Given the description of an element on the screen output the (x, y) to click on. 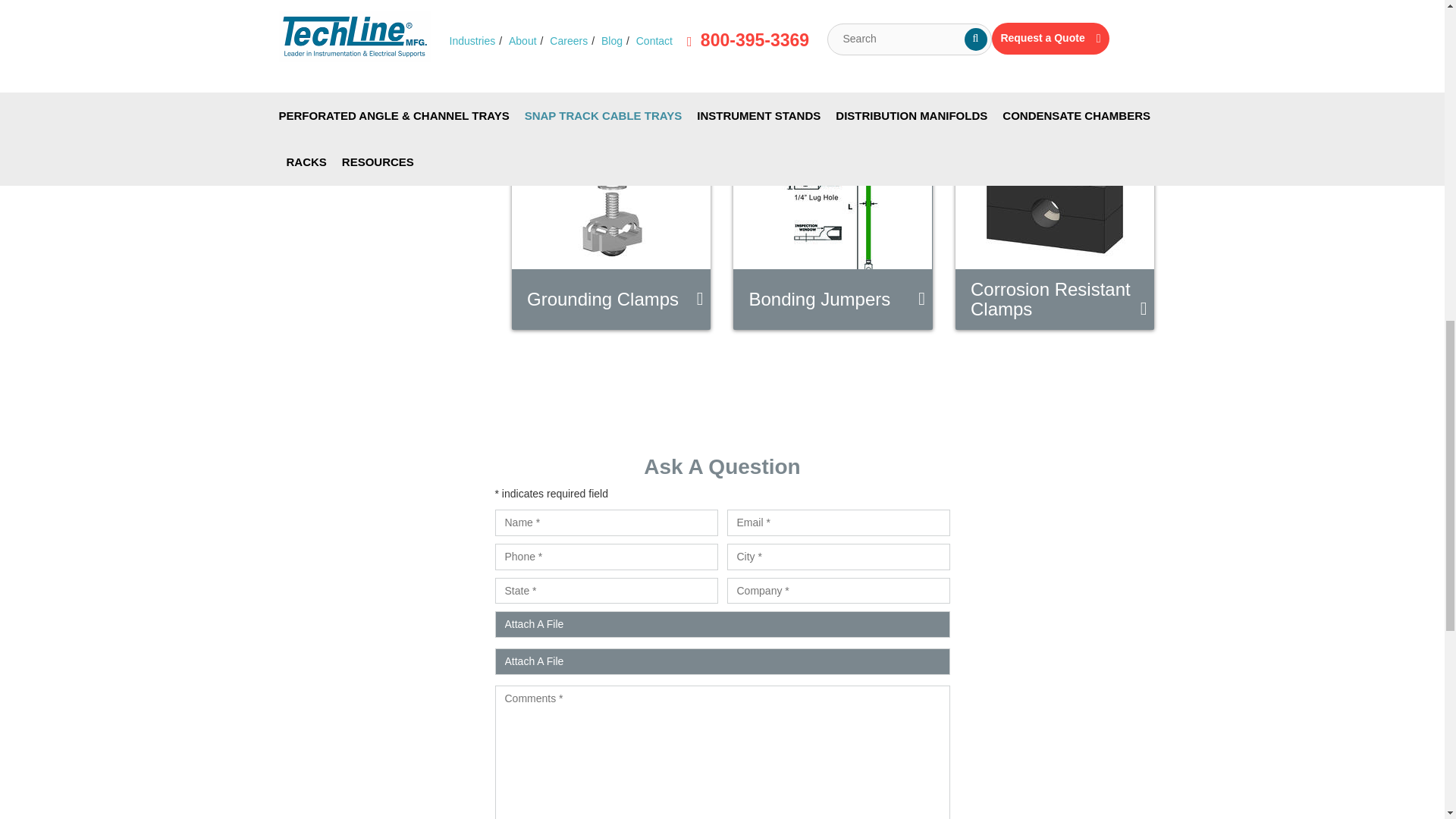
Attach A File (722, 624)
Attach A File (722, 661)
